Given the description of an element on the screen output the (x, y) to click on. 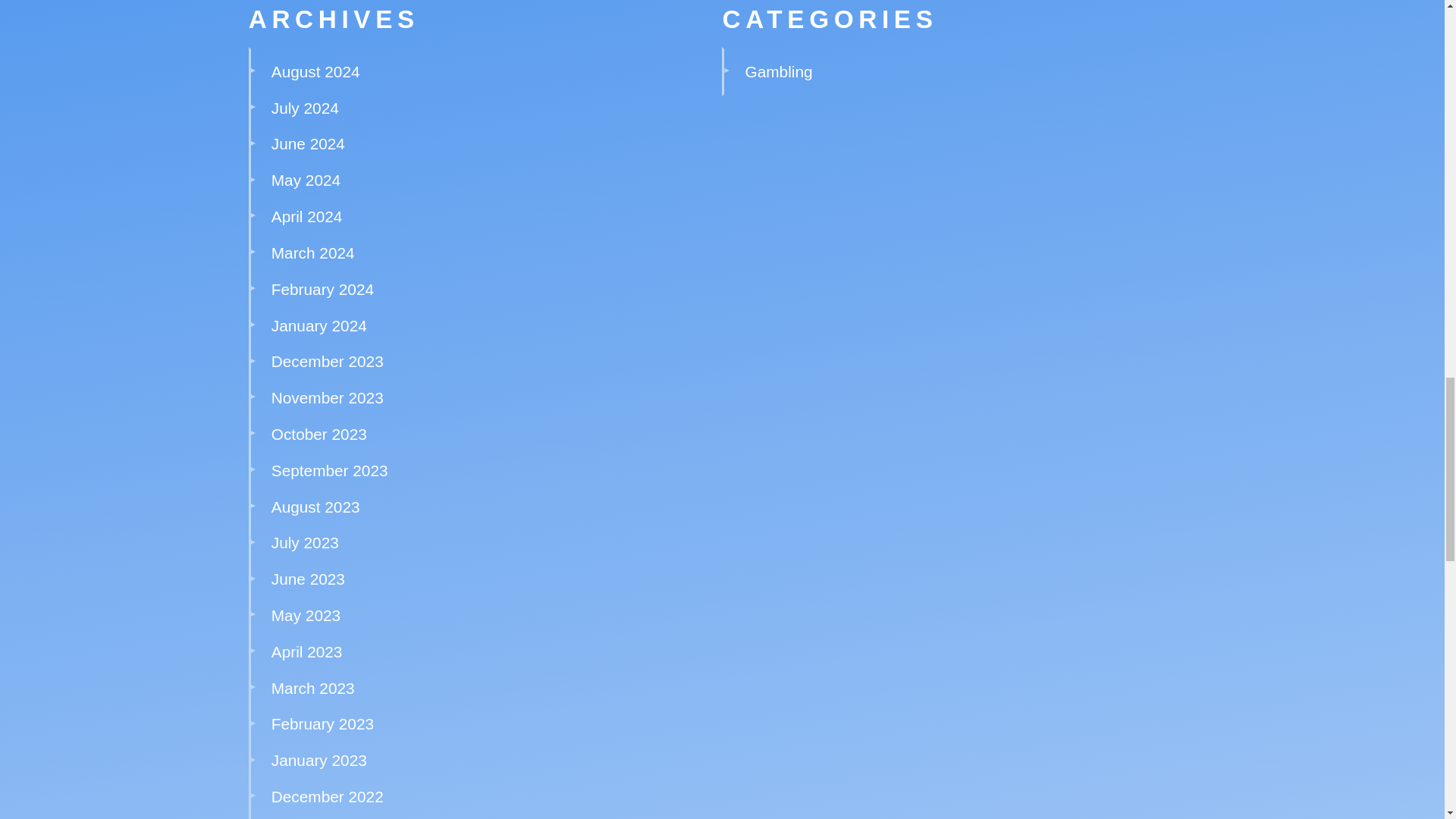
March 2023 (312, 687)
January 2024 (318, 325)
February 2024 (322, 289)
October 2023 (318, 434)
December 2023 (327, 361)
August 2024 (314, 71)
June 2024 (307, 143)
April 2023 (306, 651)
January 2023 (318, 760)
July 2024 (304, 108)
